Given the description of an element on the screen output the (x, y) to click on. 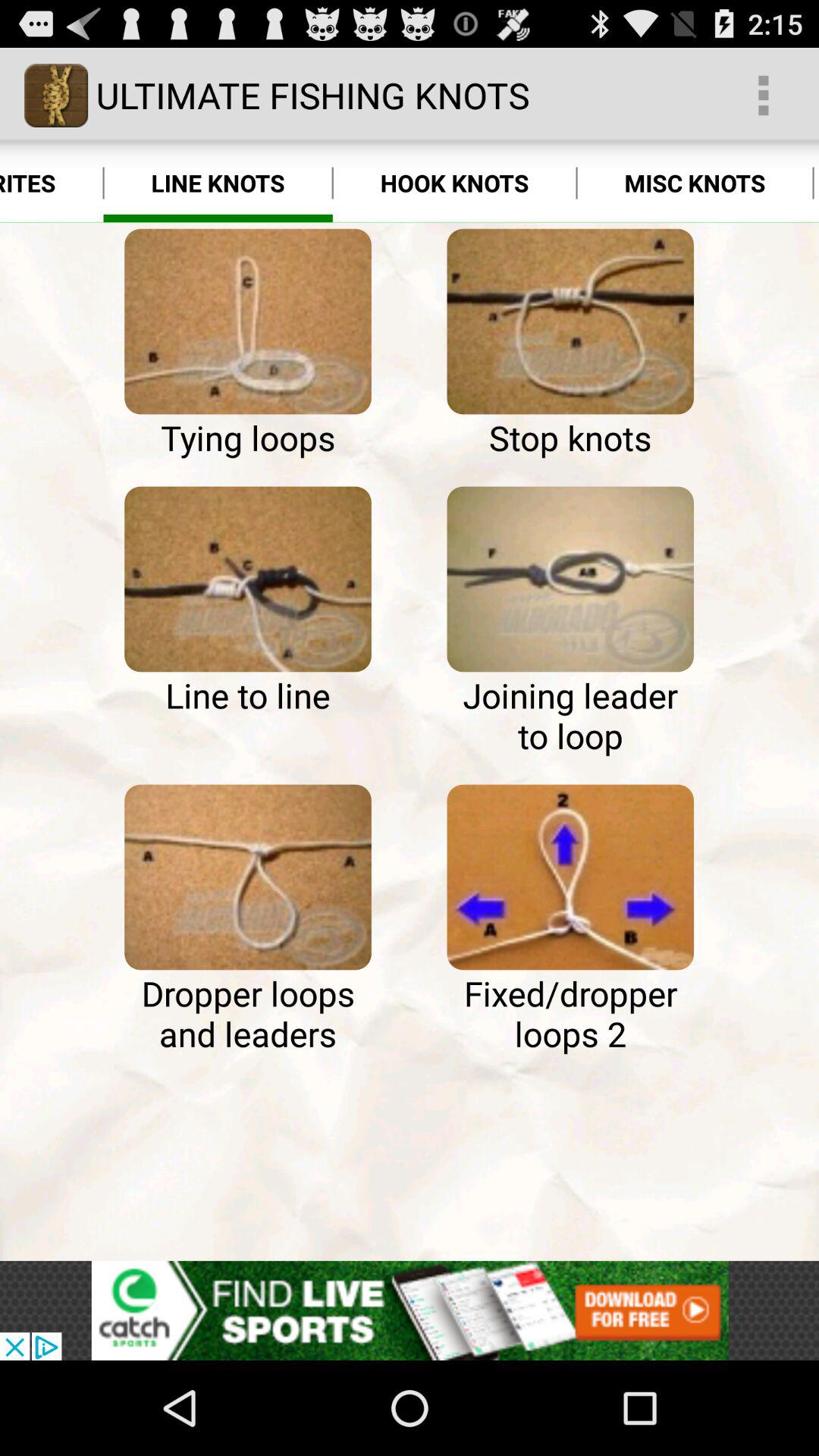
select stop knots (570, 321)
